Given the description of an element on the screen output the (x, y) to click on. 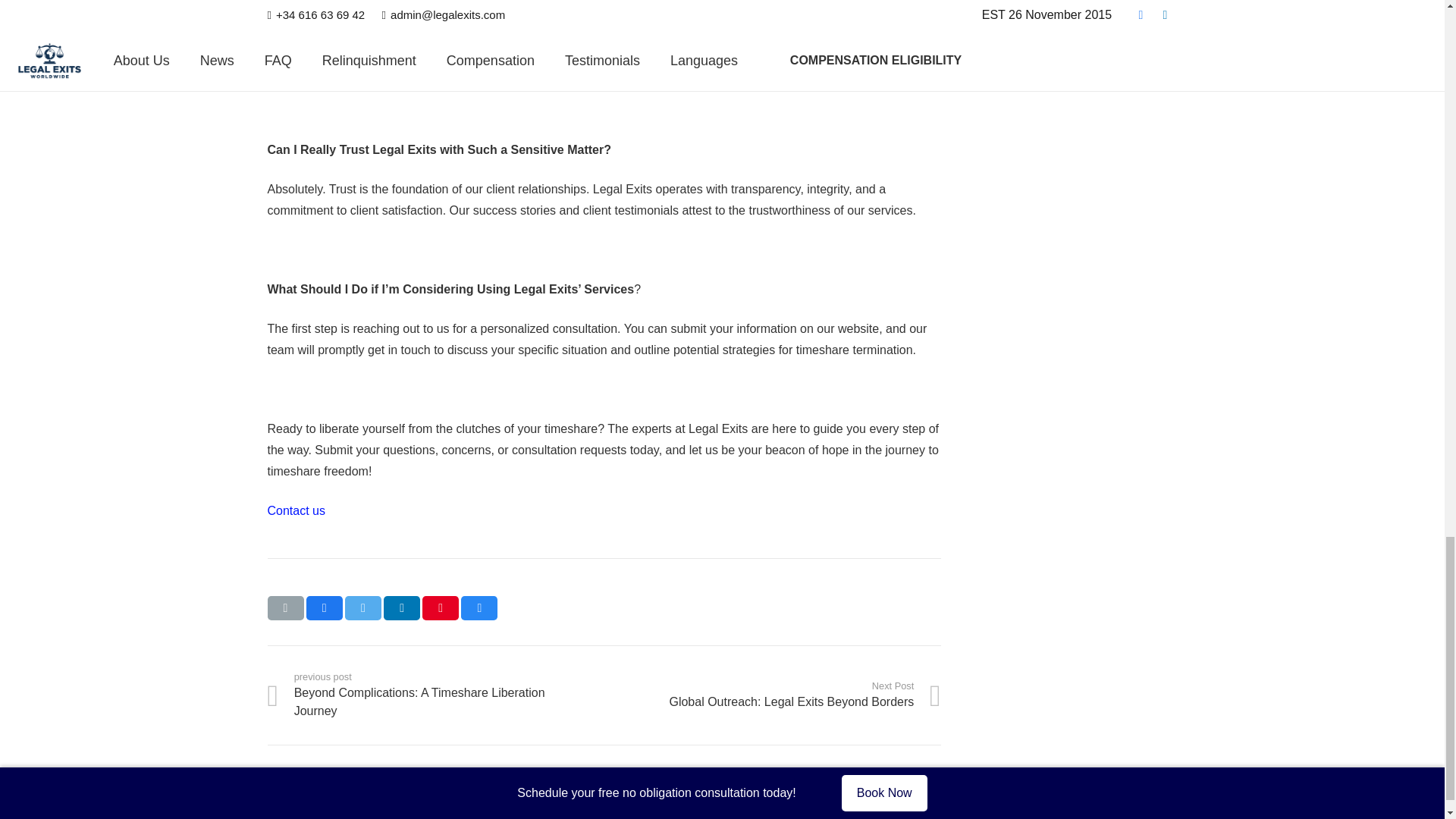
Contact us (772, 694)
Email this (295, 510)
